Given the description of an element on the screen output the (x, y) to click on. 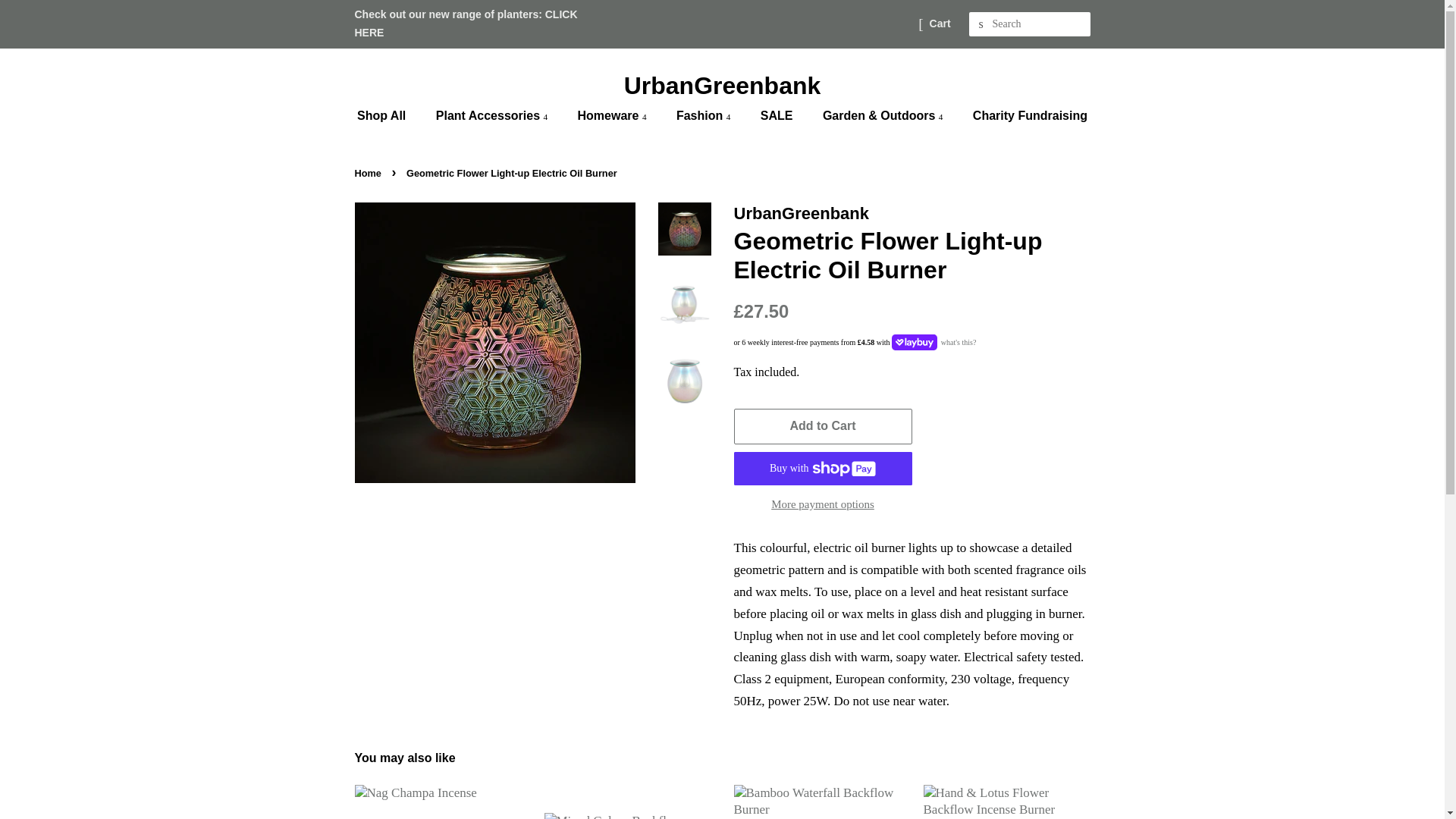
Check out our new range of planters: CLICK HERE (466, 23)
Cart (940, 24)
Back to the frontpage (370, 173)
Search (980, 24)
